Given the description of an element on the screen output the (x, y) to click on. 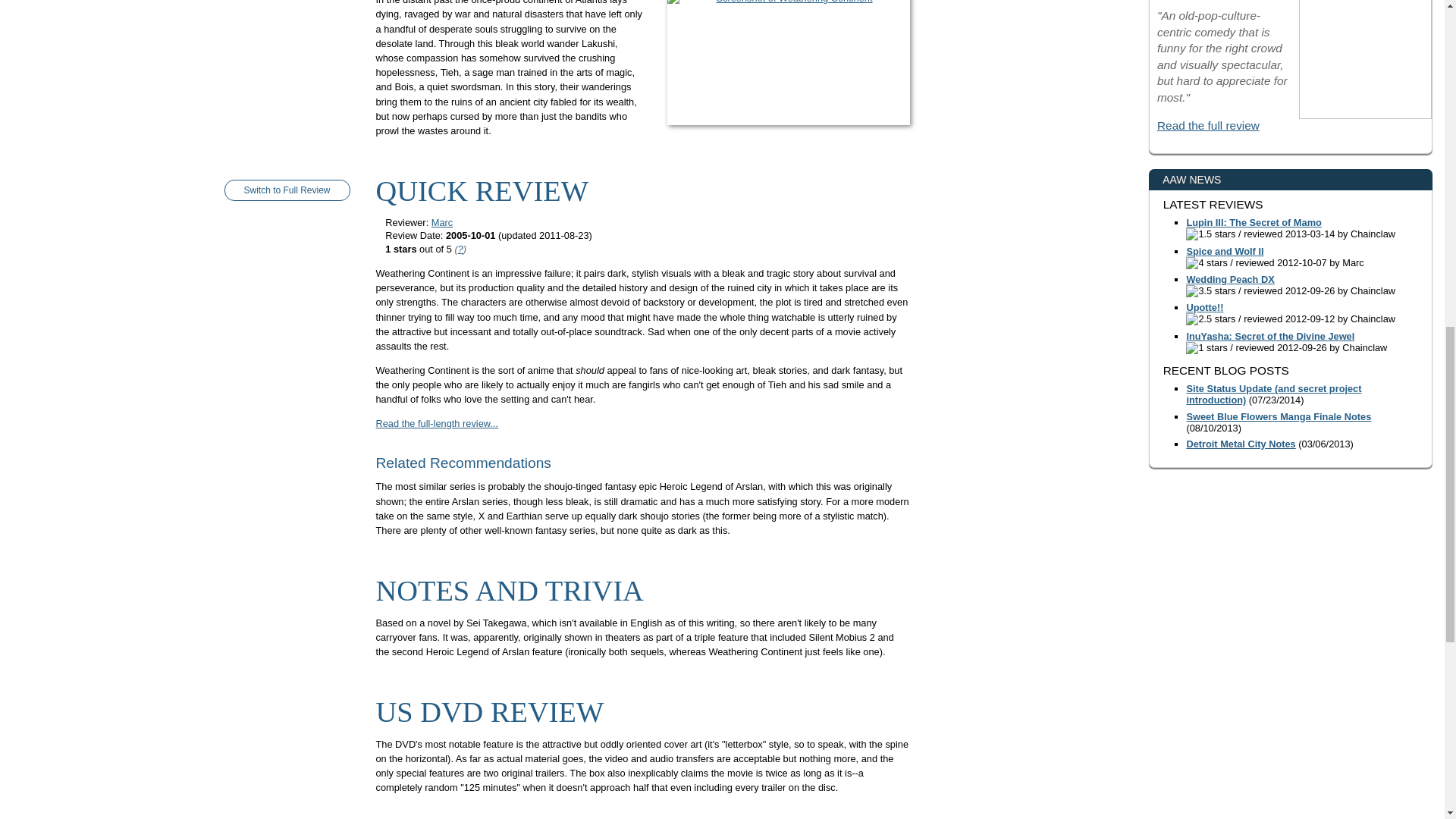
Read the full-length review... (436, 423)
Switch to Full Review (287, 189)
see more sample images (788, 116)
Marc (441, 222)
